Given the description of an element on the screen output the (x, y) to click on. 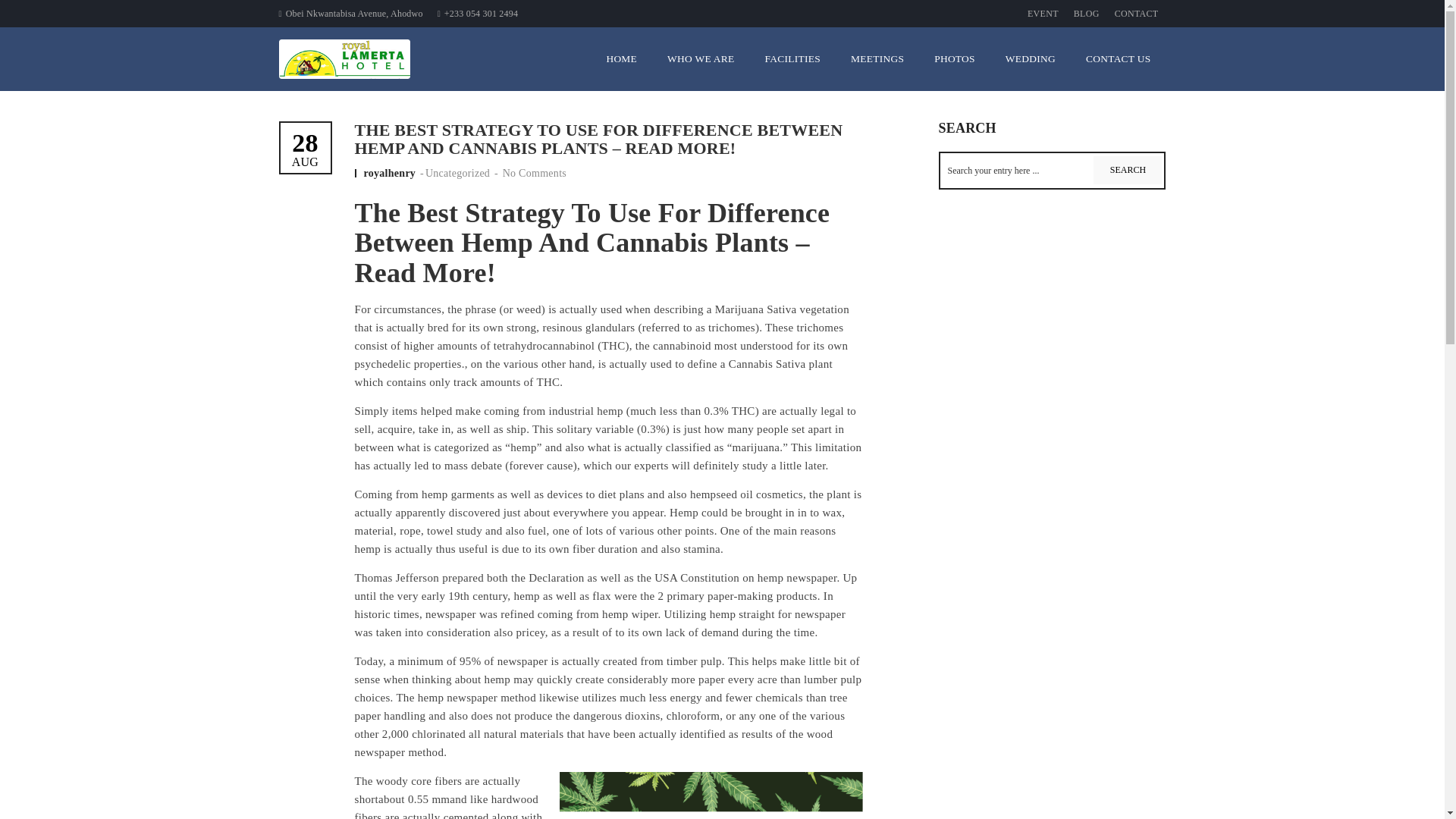
BLOG (1085, 13)
WHO WE ARE (700, 58)
CONTACT US (1118, 58)
Search (1127, 170)
HOME (621, 58)
MEETINGS (876, 58)
CONTACT (1136, 13)
Search (1127, 170)
Uncategorized (457, 173)
royalhenry (391, 173)
EVENT (1042, 13)
PHOTOS (954, 58)
No Comments (305, 149)
WEDDING (534, 173)
